Given the description of an element on the screen output the (x, y) to click on. 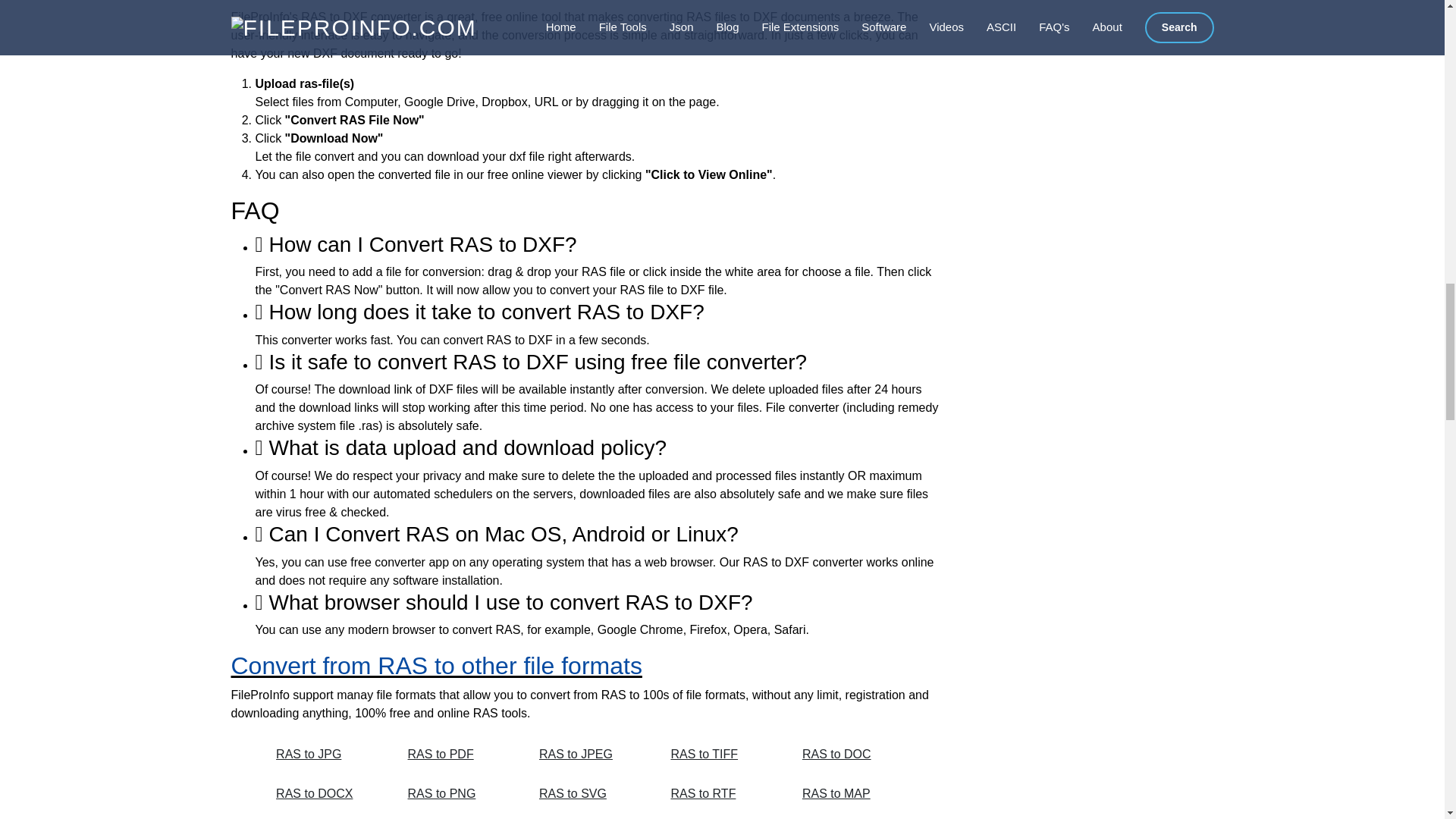
Convert from RAS to other file formats (436, 665)
RAS to TIFF (719, 754)
RAS to PDF (456, 754)
RAS to JPEG (587, 754)
RAS to JPG (325, 754)
